Given the description of an element on the screen output the (x, y) to click on. 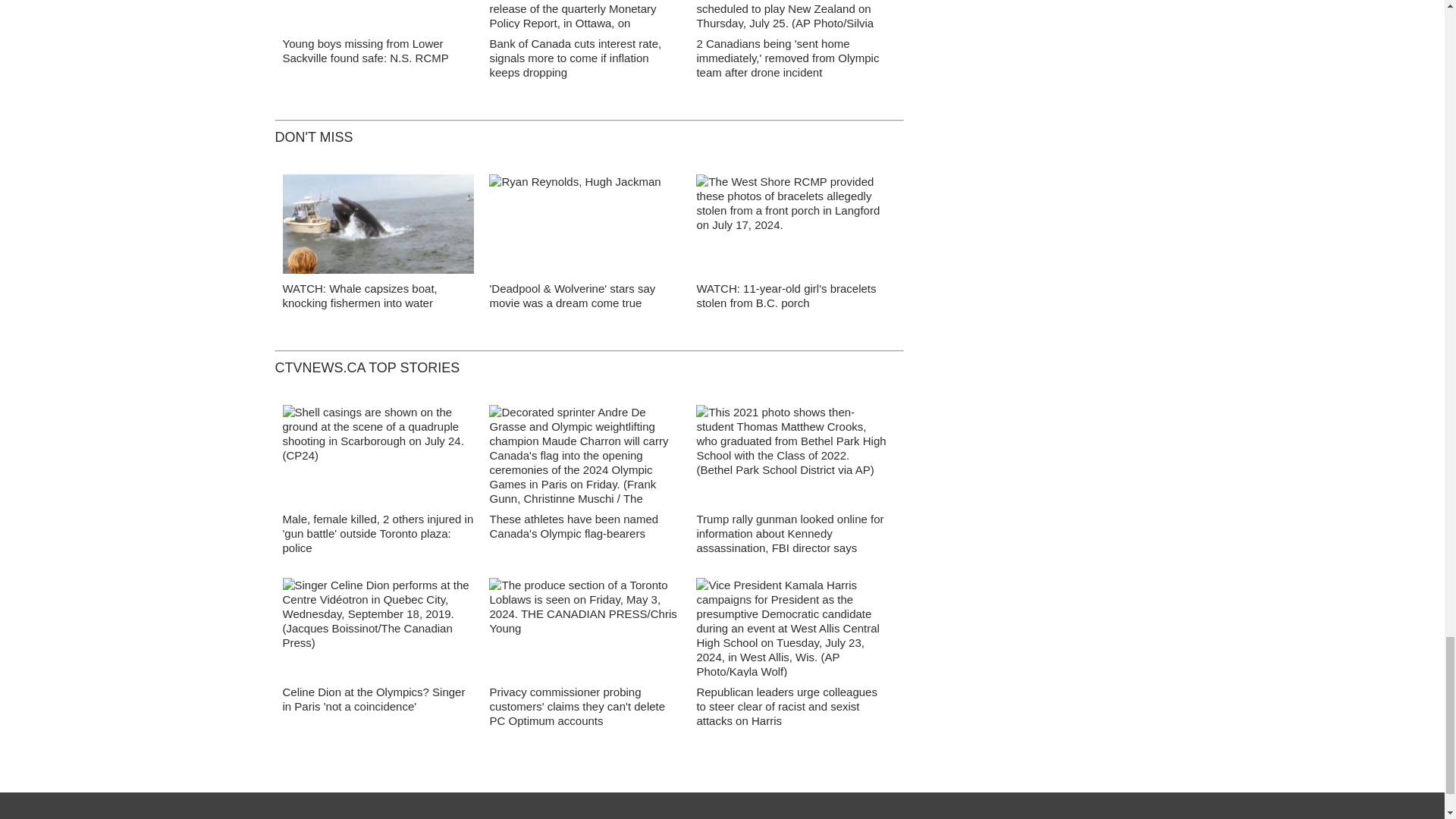
rcmp (378, 18)
Governor of the Bank of Canada Tiff Macklem speaks (585, 18)
